Given the description of an element on the screen output the (x, y) to click on. 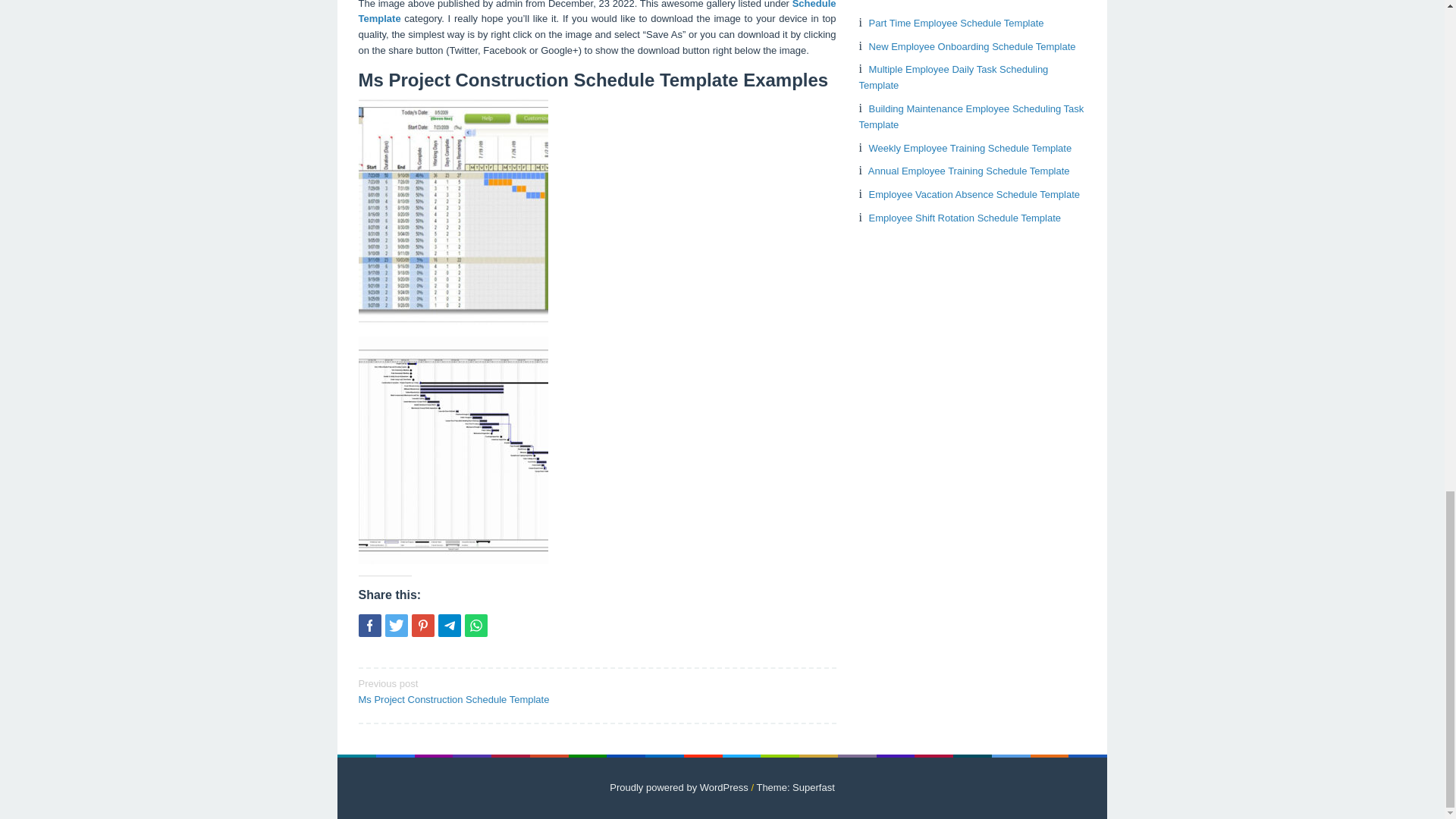
Employee Shift Rotation Schedule Template (965, 217)
Pin this (421, 625)
Tweet this (396, 625)
Part Time Employee Schedule Template (956, 22)
Theme: Superfast (794, 787)
Theme: Superfast (794, 787)
Annual Employee Training Schedule Template (968, 170)
Multiple Employee Daily Task Scheduling Template (953, 76)
Building Maintenance Employee Scheduling Task Template (971, 116)
Proudly powered by WordPress (679, 787)
